Given the description of an element on the screen output the (x, y) to click on. 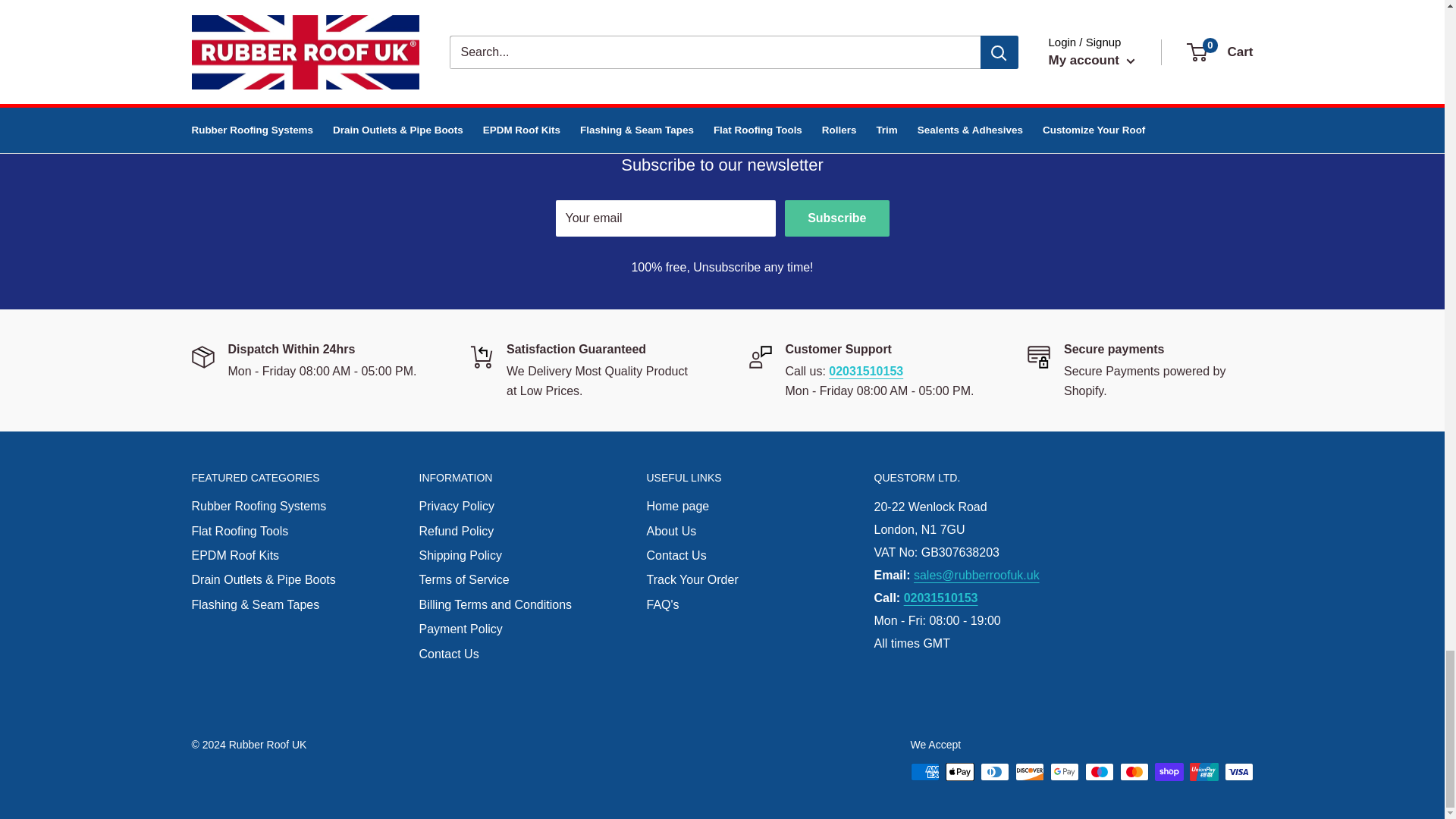
02031510153 (518, 16)
tel:02031510153 (865, 370)
Subscribe (836, 217)
